Given the description of an element on the screen output the (x, y) to click on. 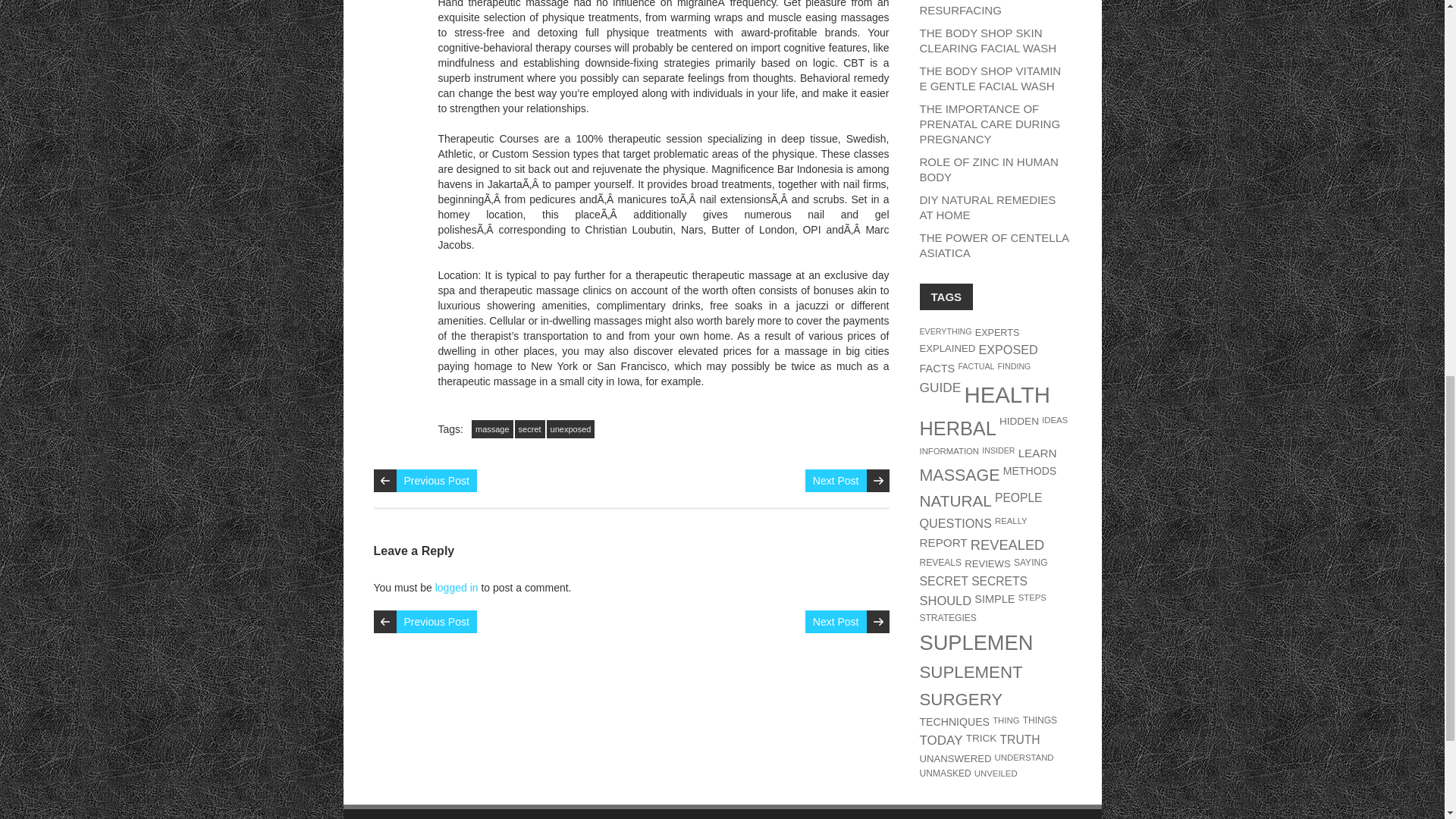
massage (492, 429)
THE IMPORTANCE OF PRENATAL CARE DURING PREGNANCY (988, 123)
Next Post (835, 480)
Previous Post (436, 621)
secret (529, 429)
UNDERSTANDING SKIN RESURFACING (982, 8)
Previous Post (436, 480)
unexposed (571, 429)
THE BODY SHOP SKIN CLEARING FACIAL WASH (987, 40)
THE BODY SHOP VITAMIN E GENTLE FACIAL WASH (989, 78)
Next Post (835, 621)
logged in (457, 587)
